Given the description of an element on the screen output the (x, y) to click on. 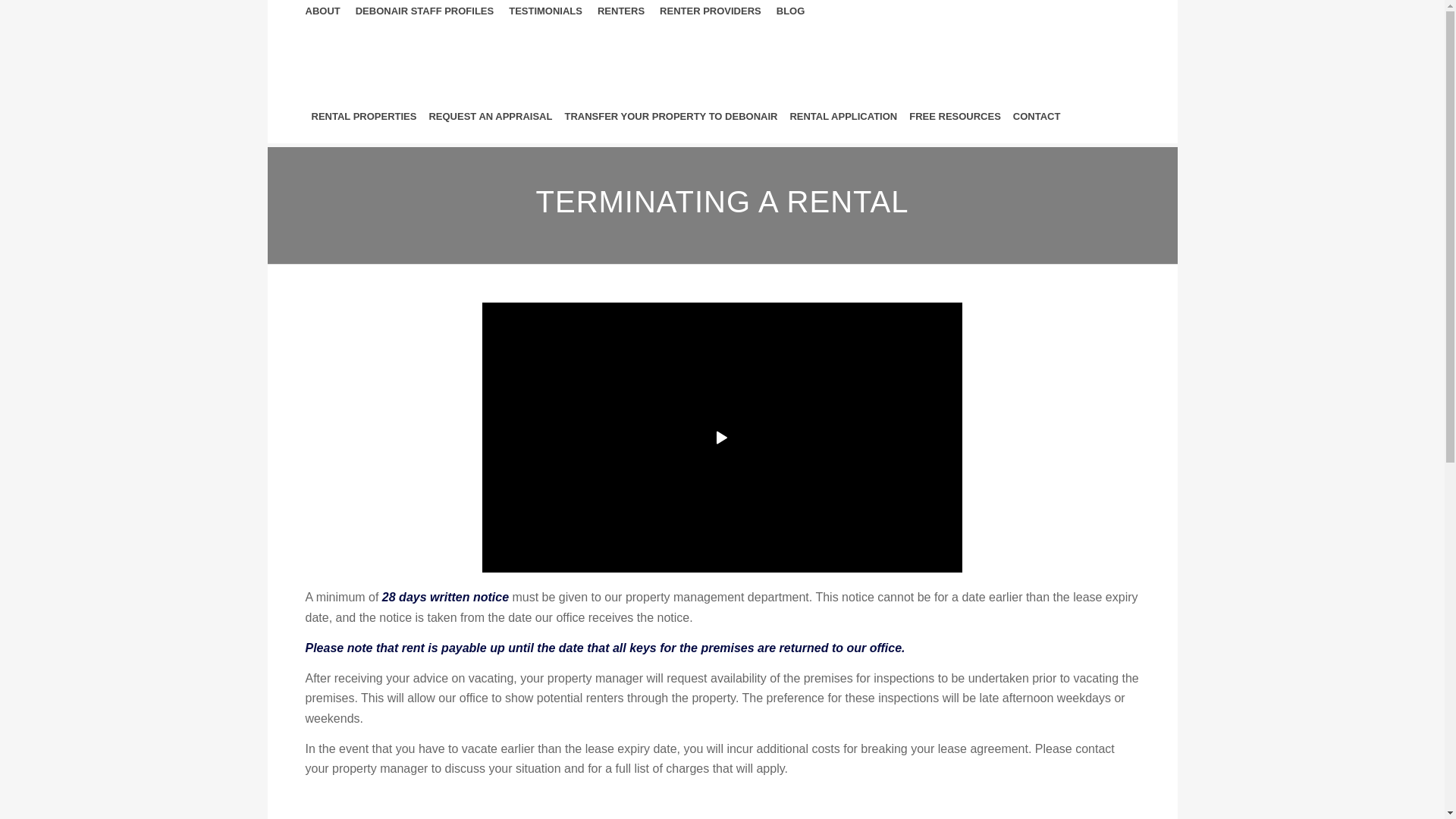
DEBONAIR STAFF PROFILES Element type: text (424, 10)
FREE RESOURCES Element type: text (955, 116)
BLOG Element type: text (790, 10)
RENTERS Element type: text (620, 10)
ABOUT Element type: text (321, 10)
TRANSFER YOUR PROPERTY TO DEBONAIR Element type: text (670, 116)
CONTACT Element type: text (1036, 116)
RENTER PROVIDERS Element type: text (710, 10)
TESTIMONIALS Element type: text (545, 10)
RENTAL PROPERTIES Element type: text (363, 116)
RENTAL APPLICATION Element type: text (843, 116)
REQUEST AN APPRAISAL Element type: text (490, 116)
